Given the description of an element on the screen output the (x, y) to click on. 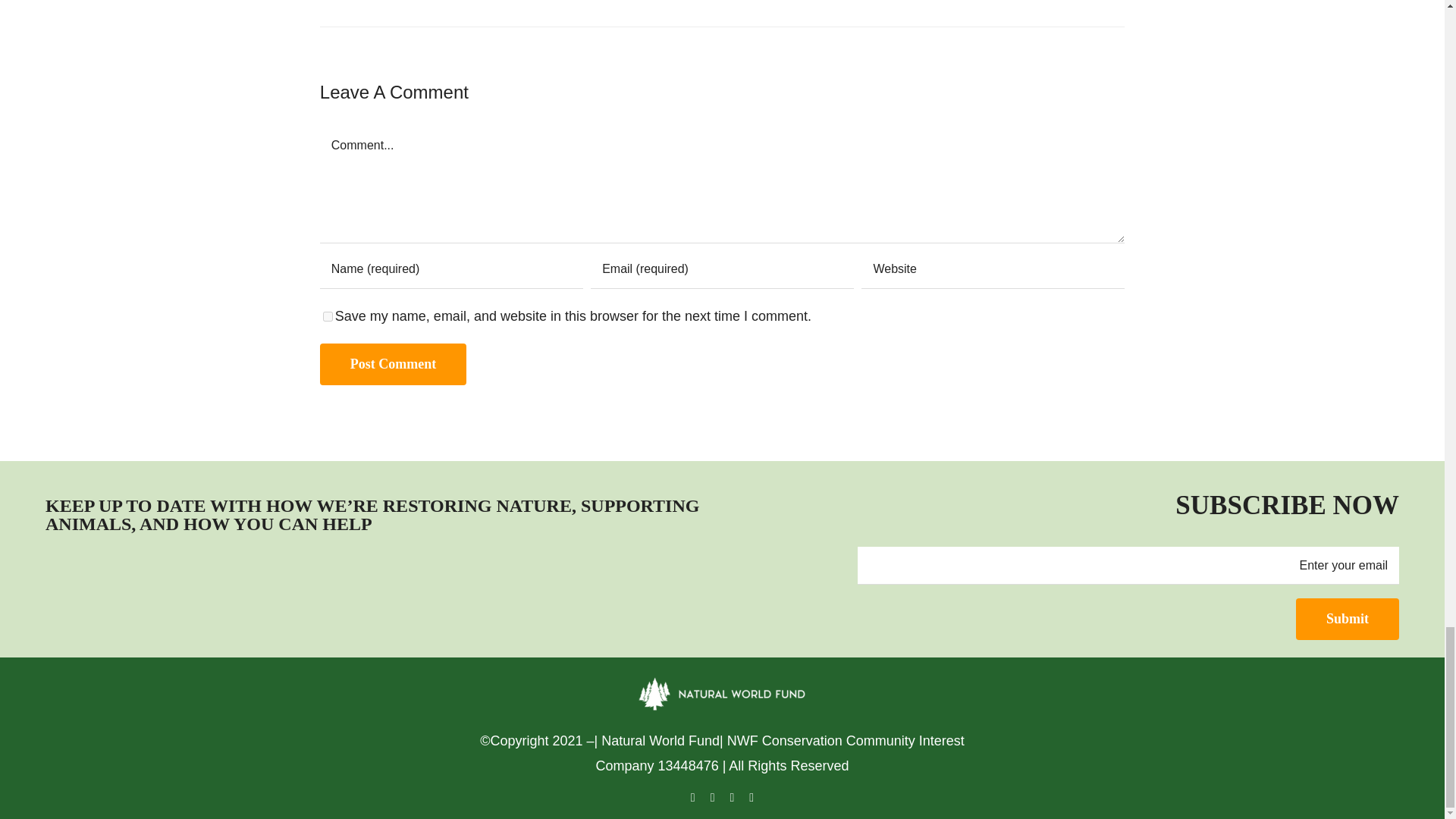
Submit (1347, 618)
yes (328, 316)
Submit (1347, 618)
3 (120, 590)
Post Comment (392, 363)
Post Comment (392, 363)
